Given the description of an element on the screen output the (x, y) to click on. 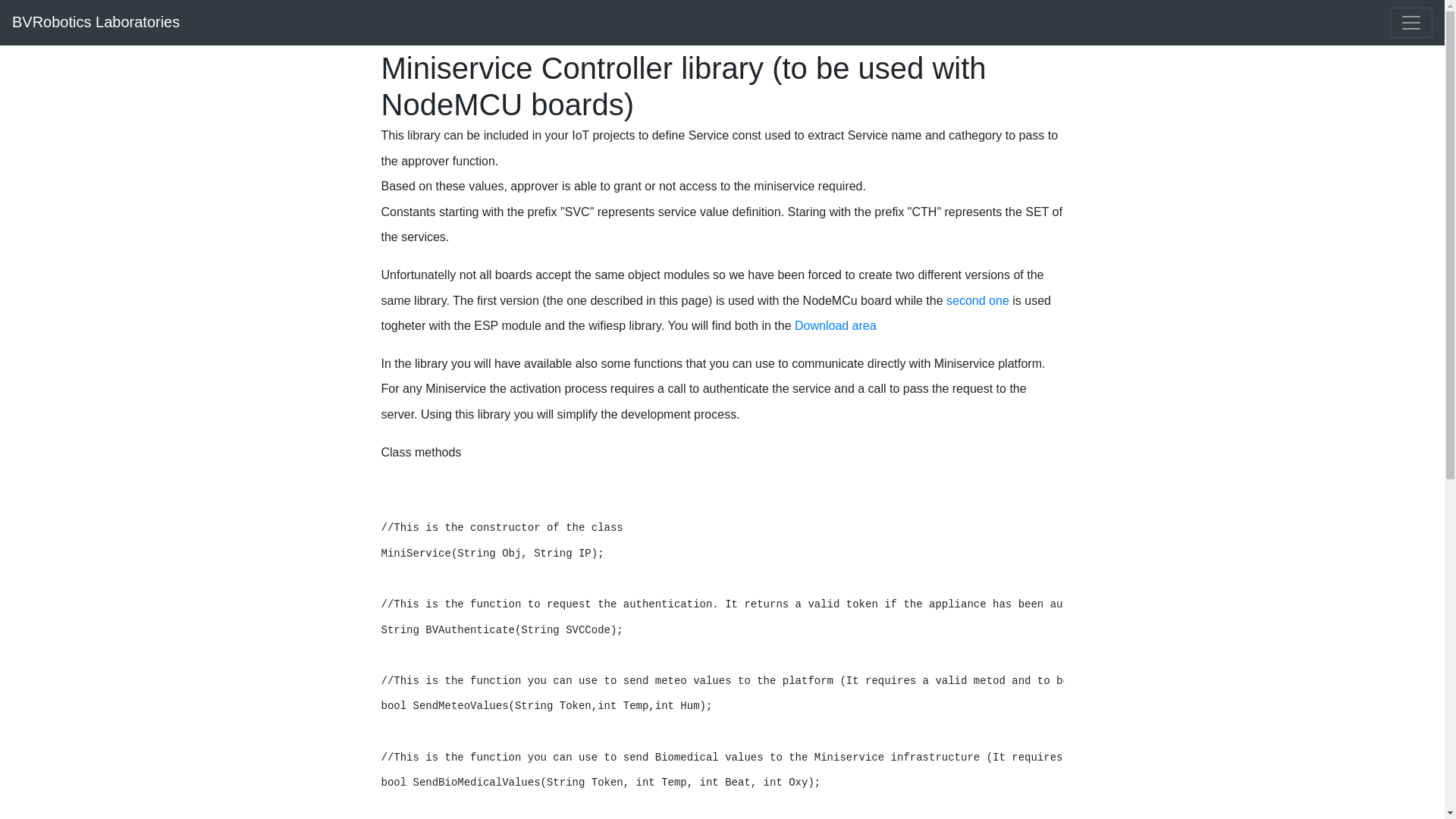
BVRobotics Laboratories (95, 22)
Download area (835, 325)
second one (977, 300)
